Given the description of an element on the screen output the (x, y) to click on. 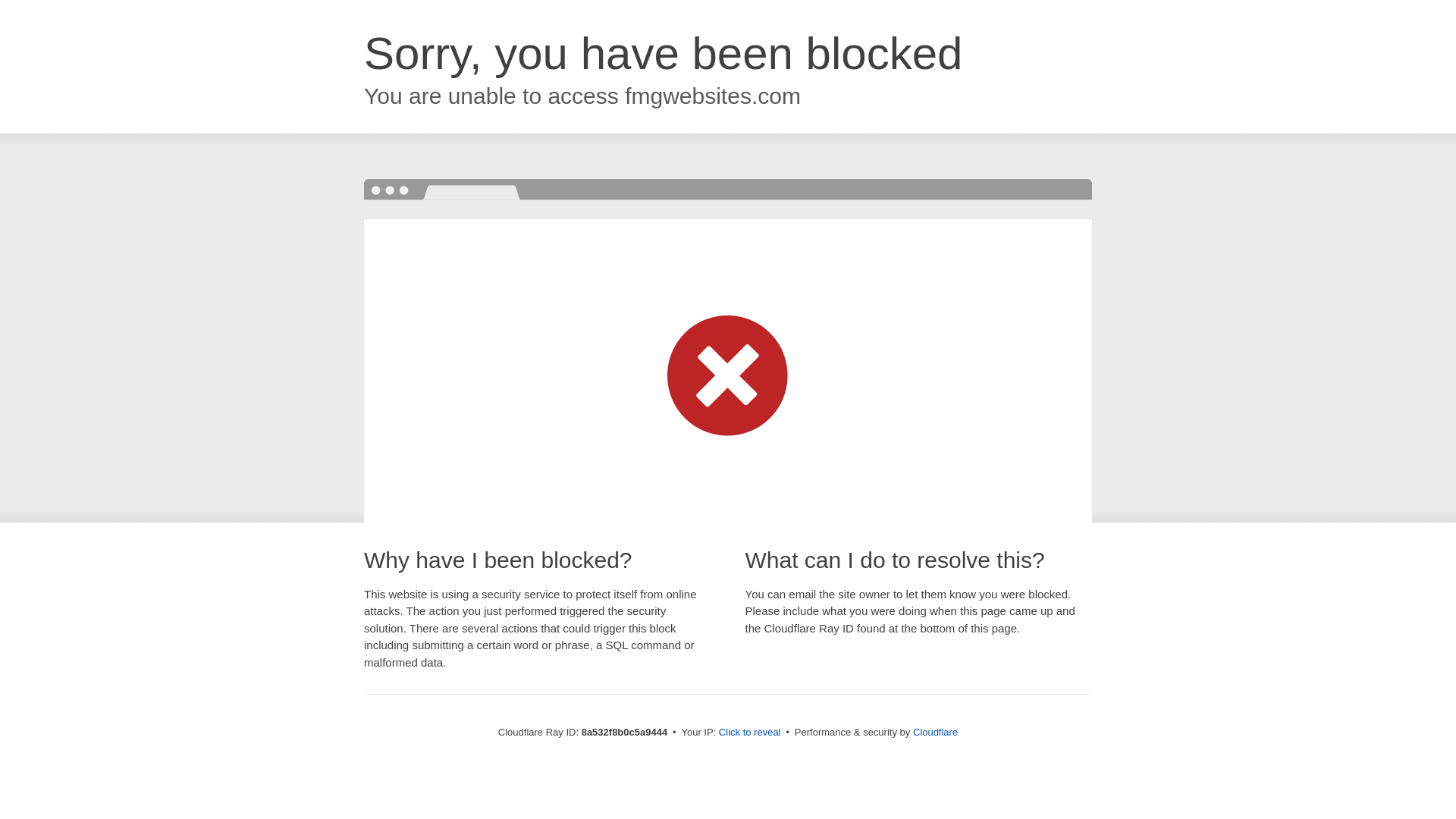
Cloudflare (935, 731)
Click to reveal (749, 732)
